Given the description of an element on the screen output the (x, y) to click on. 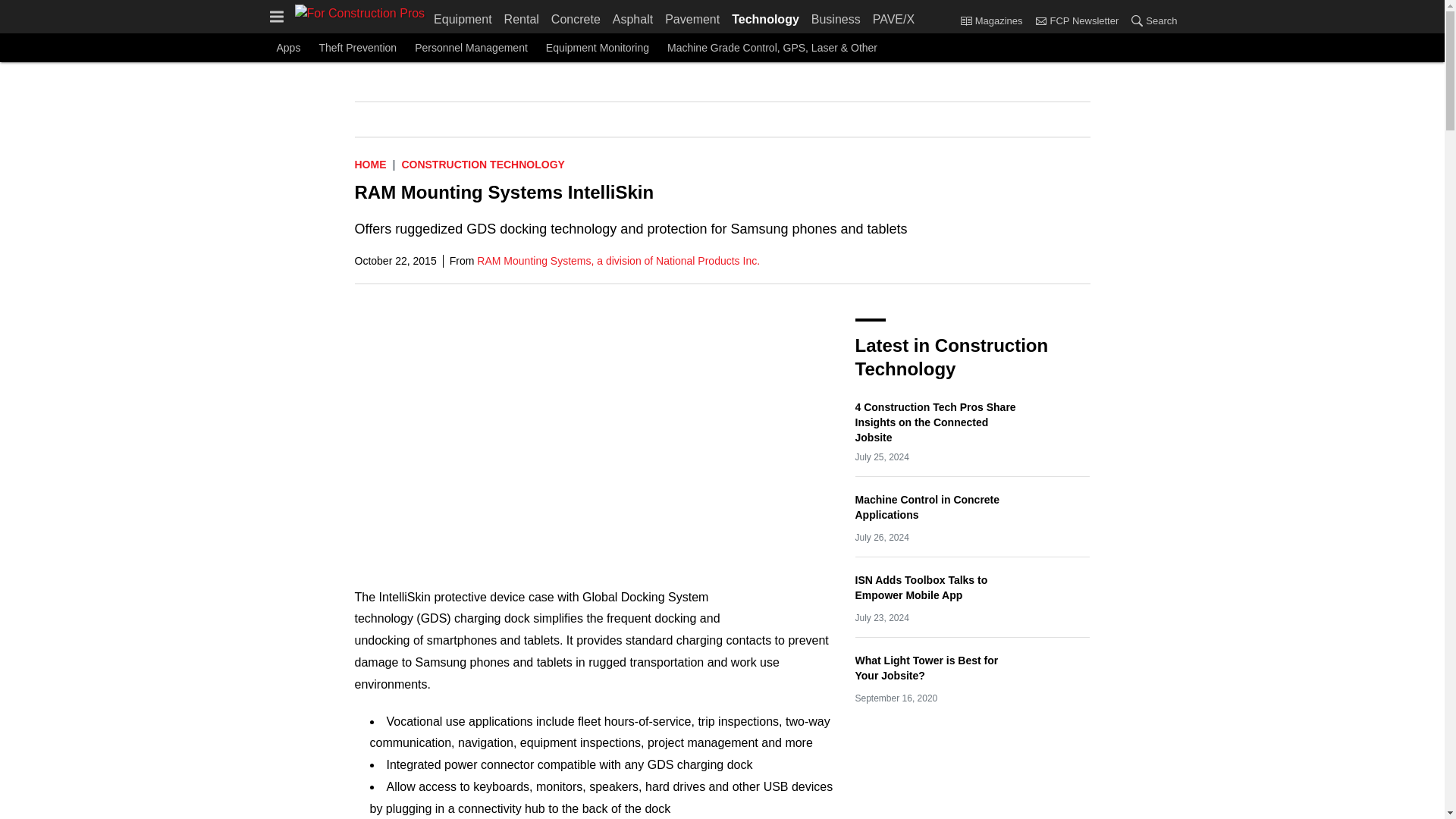
Equipment Monitoring (597, 47)
Rental (520, 16)
FCP Newsletter (1075, 21)
Construction Technology (482, 164)
FCP Newsletter (1039, 20)
Personnel Management (470, 47)
Apps (287, 47)
Business (835, 16)
Search (1136, 20)
Technology (765, 16)
Equipment (465, 16)
Theft Prevention (357, 47)
Magazines (994, 21)
Home (371, 164)
Concrete (575, 16)
